Given the description of an element on the screen output the (x, y) to click on. 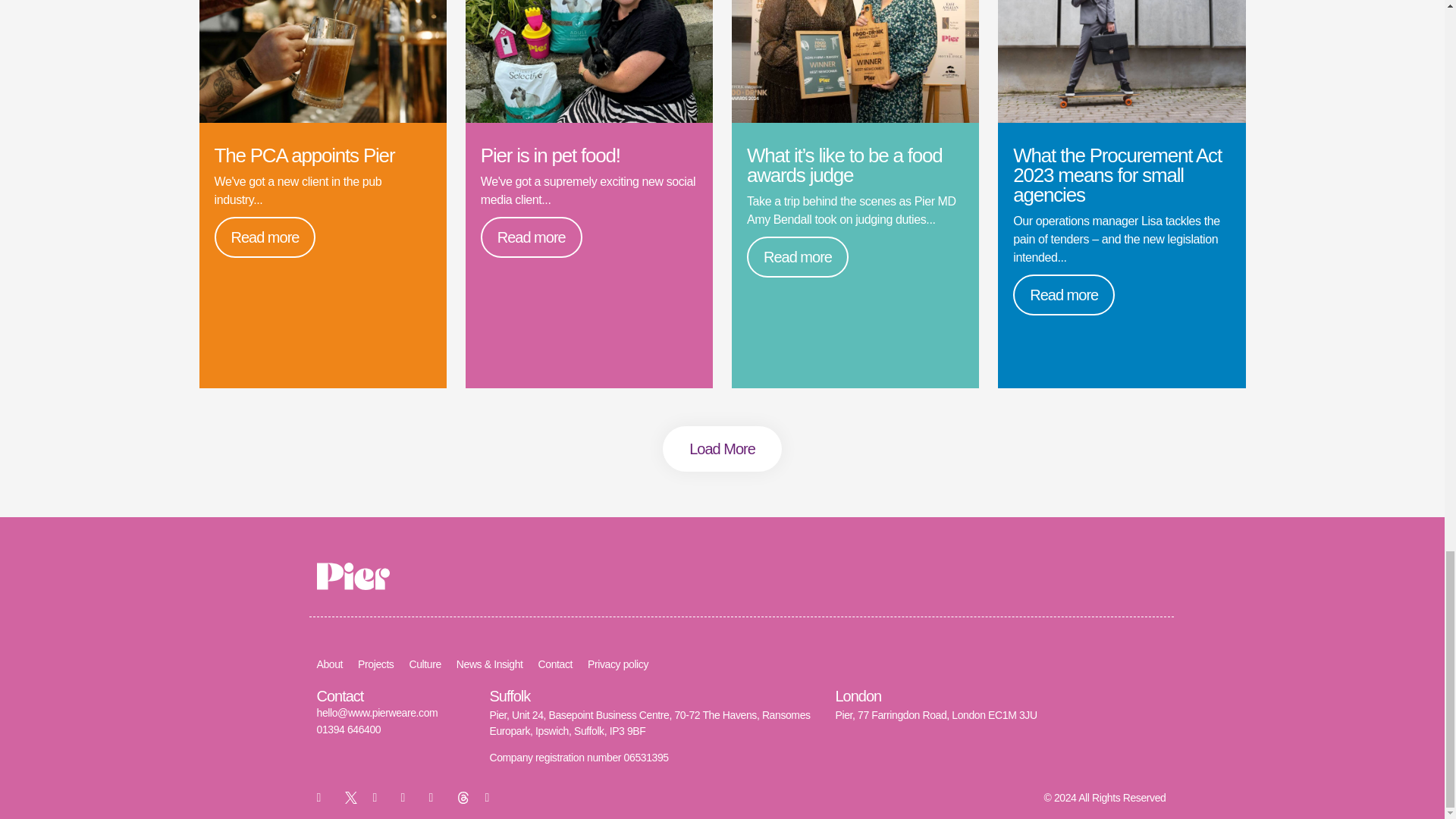
Culture (425, 664)
Projects (375, 664)
Privacy policy (617, 664)
Read more (797, 256)
Read more (531, 237)
Read more (264, 237)
01394 646400 (349, 729)
About (330, 664)
Read more (1064, 294)
Contact (555, 664)
